Given the description of an element on the screen output the (x, y) to click on. 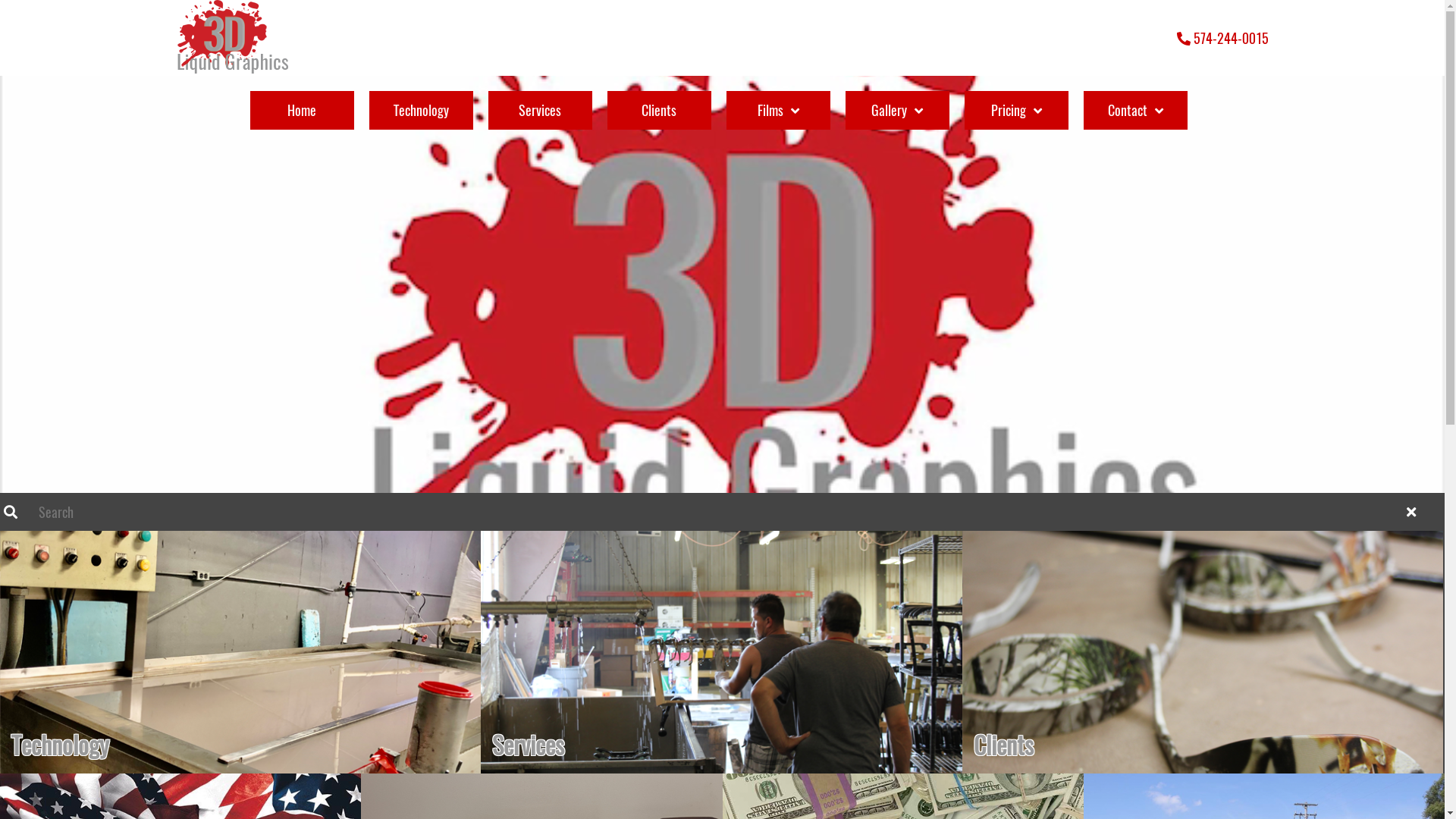
Services Element type: text (539, 109)
Gallery Element type: text (897, 109)
574-244-0015 Element type: text (1222, 37)
Technology Element type: text (240, 651)
Films Element type: text (777, 109)
Pricing Element type: text (1015, 109)
Contact Element type: text (1135, 109)
Home Element type: text (301, 109)
Services Element type: text (720, 651)
Technology Element type: text (421, 109)
Clients Element type: text (659, 109)
Clients Element type: text (1202, 651)
